Given the description of an element on the screen output the (x, y) to click on. 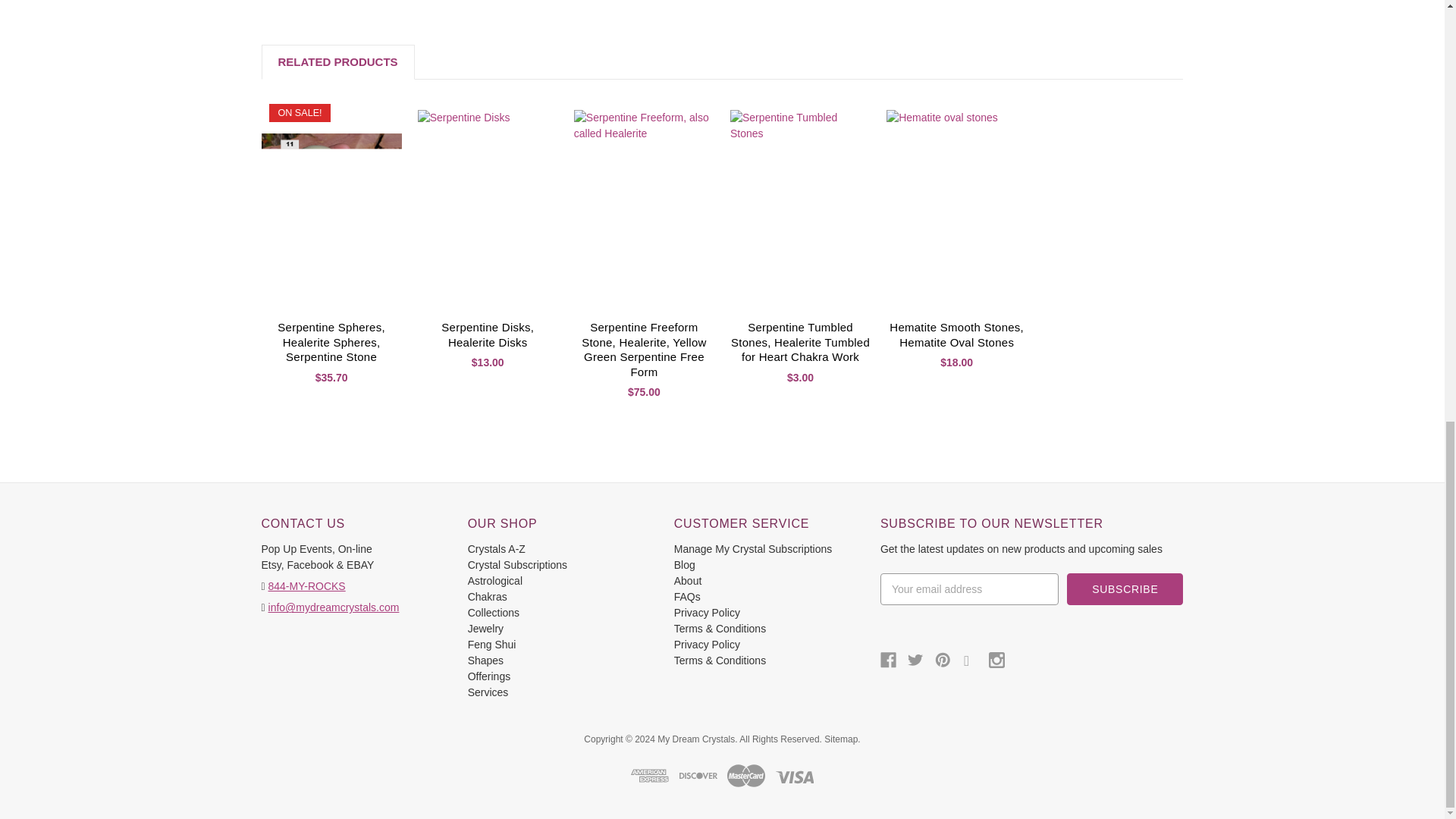
Hematite oval stones (956, 203)
Serpentine Freeform, also called Healerite (643, 203)
Subscribe (1124, 589)
Serpentine Sphere (330, 203)
Serpentine Disks (487, 203)
Serpentine Tumbled Stones (800, 203)
